Given the description of an element on the screen output the (x, y) to click on. 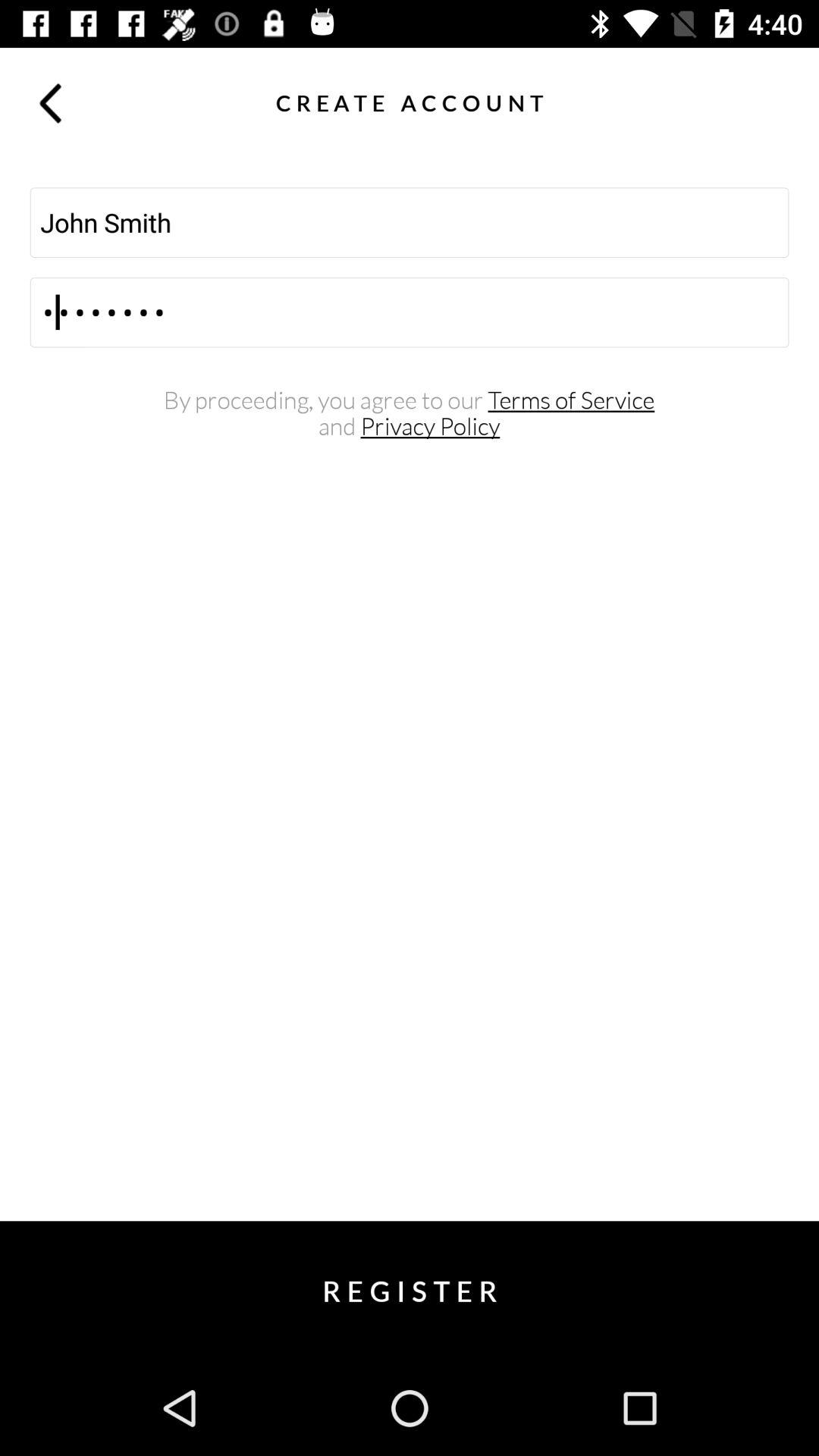
select the item below the crod3116 item (408, 400)
